Given the description of an element on the screen output the (x, y) to click on. 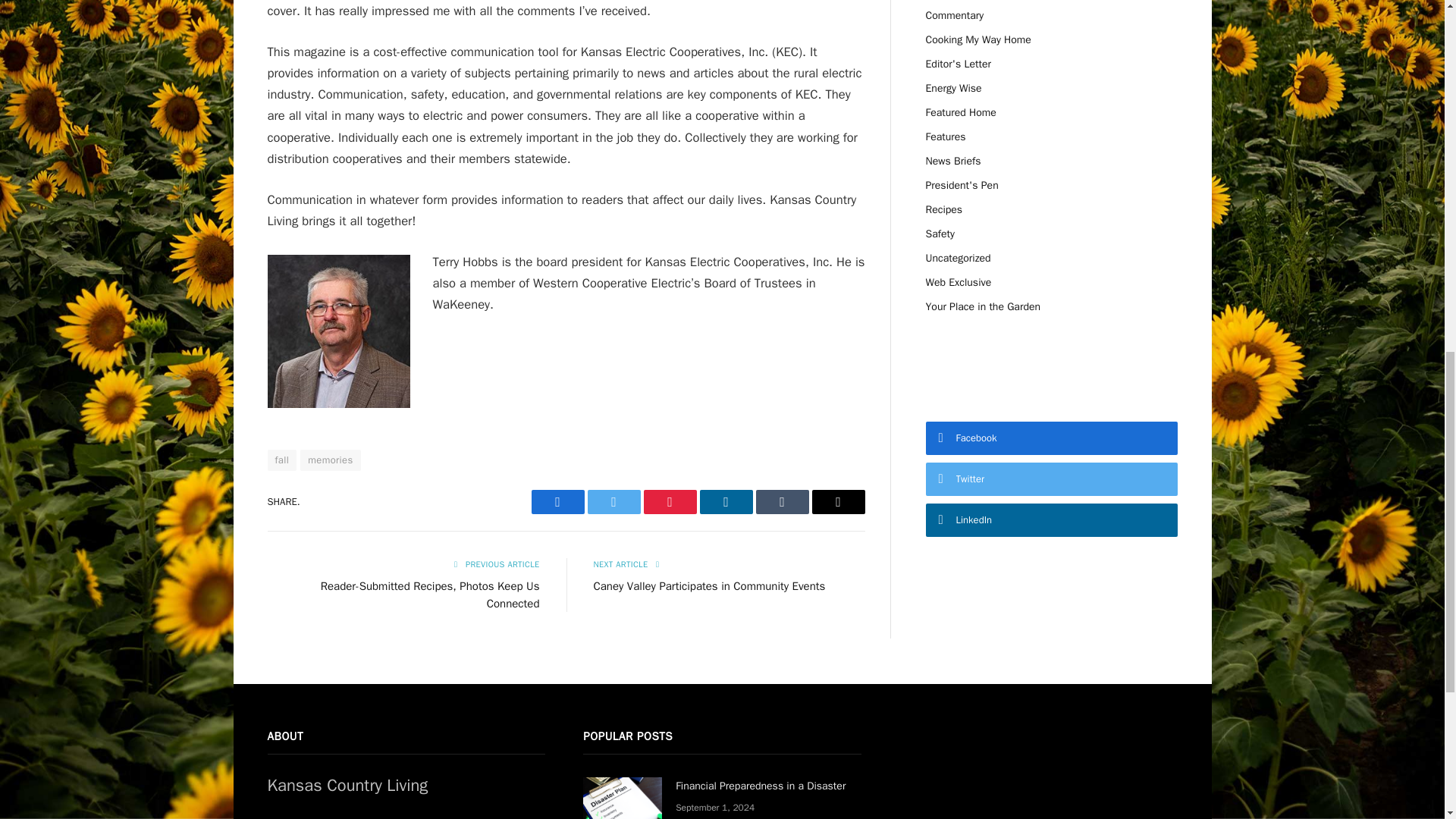
Share on Facebook (557, 501)
Share on LinkedIn (725, 501)
Share on Pinterest (669, 501)
